Given the description of an element on the screen output the (x, y) to click on. 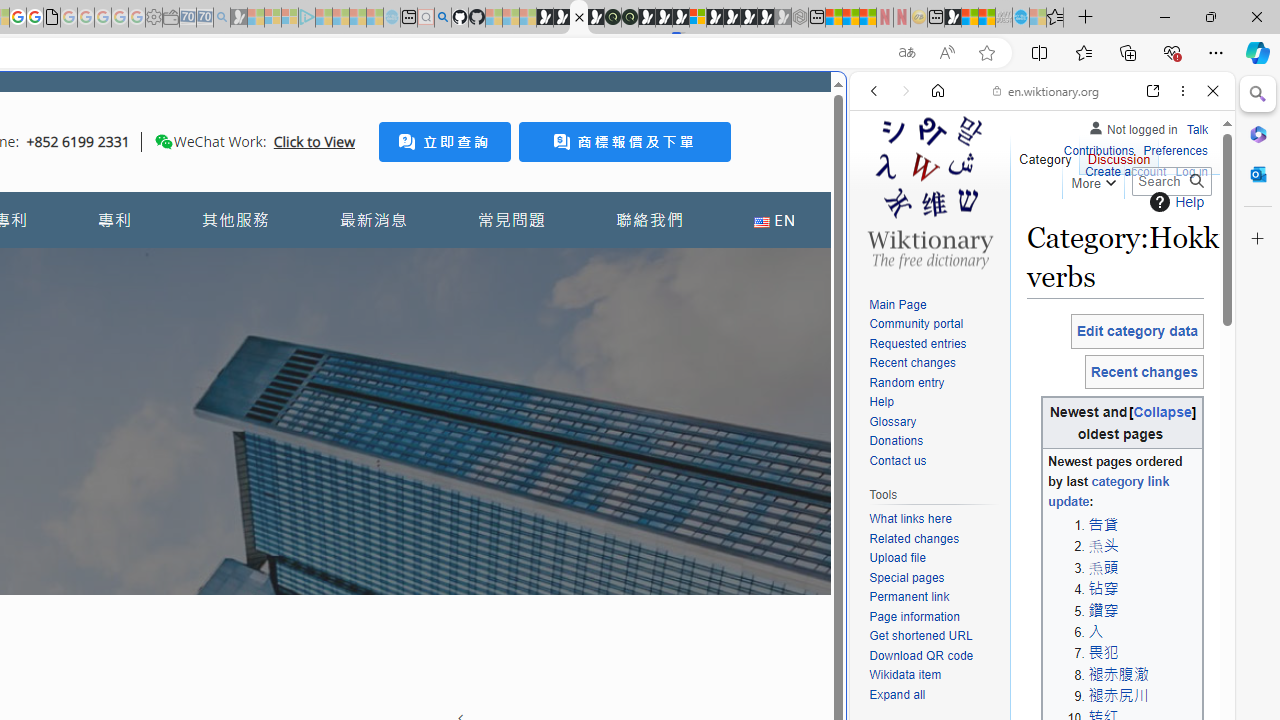
Edit category data (1137, 331)
Requested entries (934, 344)
More (1092, 179)
Create account (1125, 169)
Upload file (897, 557)
